Given the description of an element on the screen output the (x, y) to click on. 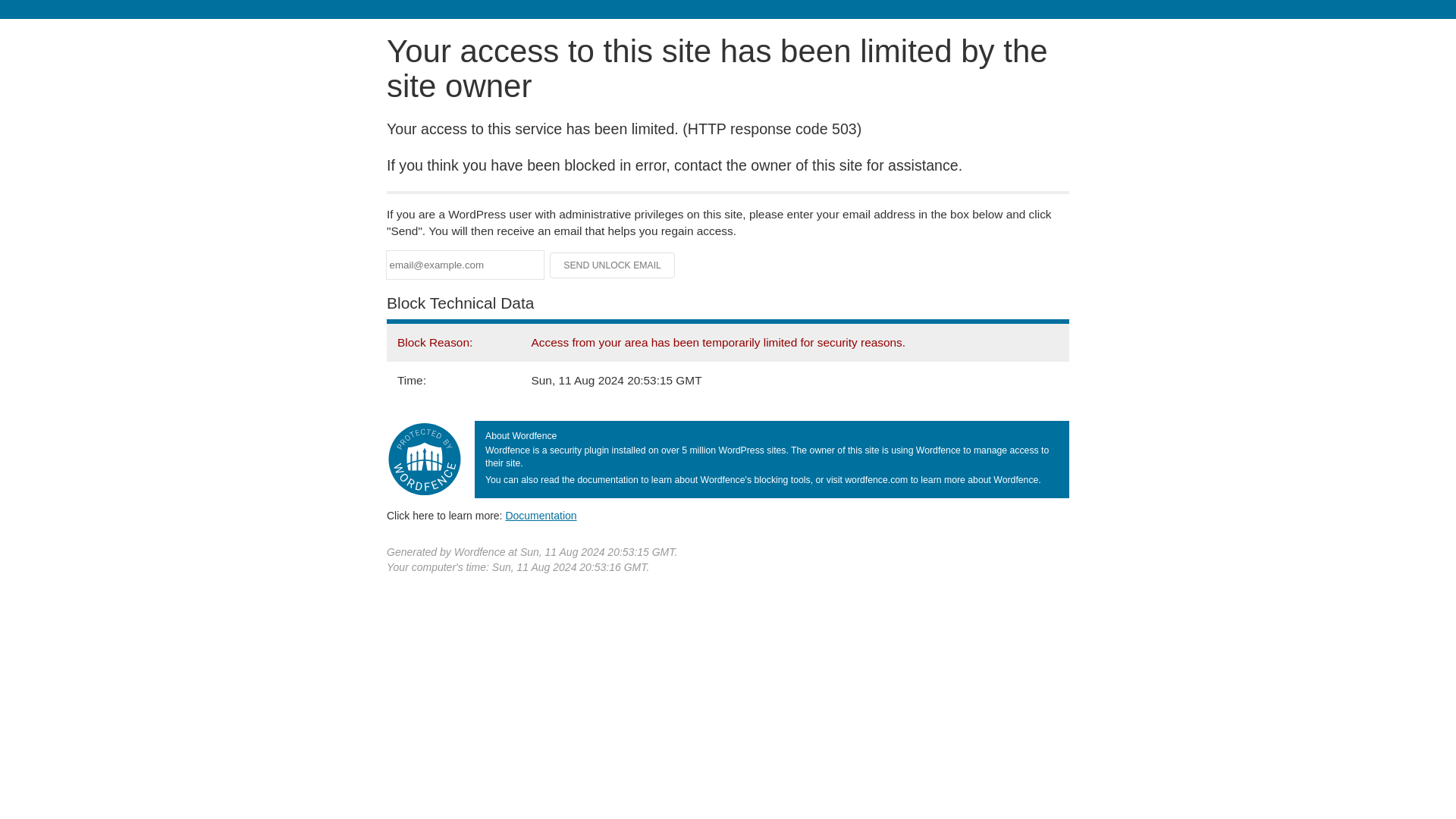
Send Unlock Email (612, 265)
Send Unlock Email (612, 265)
Documentation (540, 515)
